Given the description of an element on the screen output the (x, y) to click on. 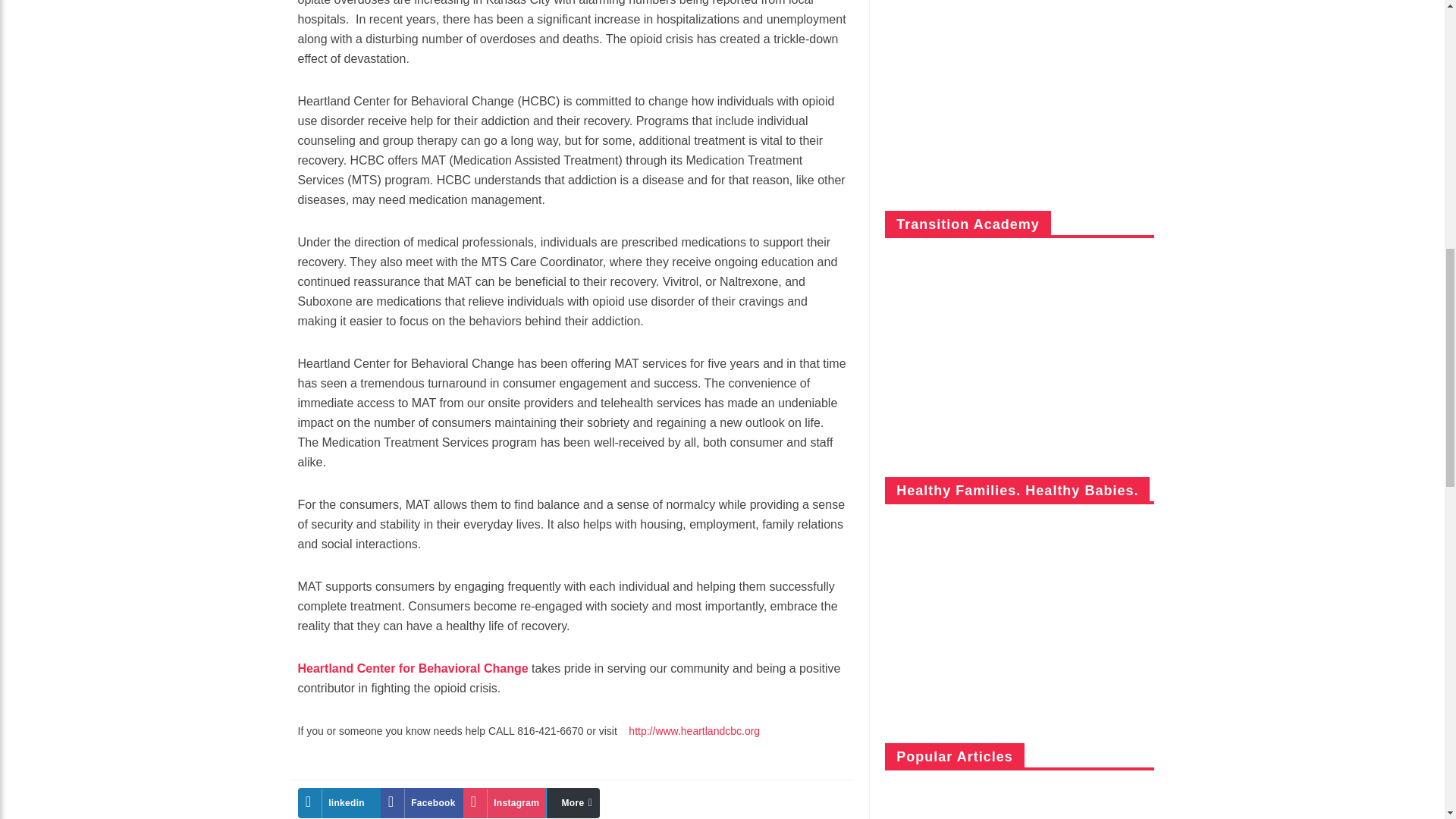
Finding Support for Opioid Use Disorder (338, 802)
